Given the description of an element on the screen output the (x, y) to click on. 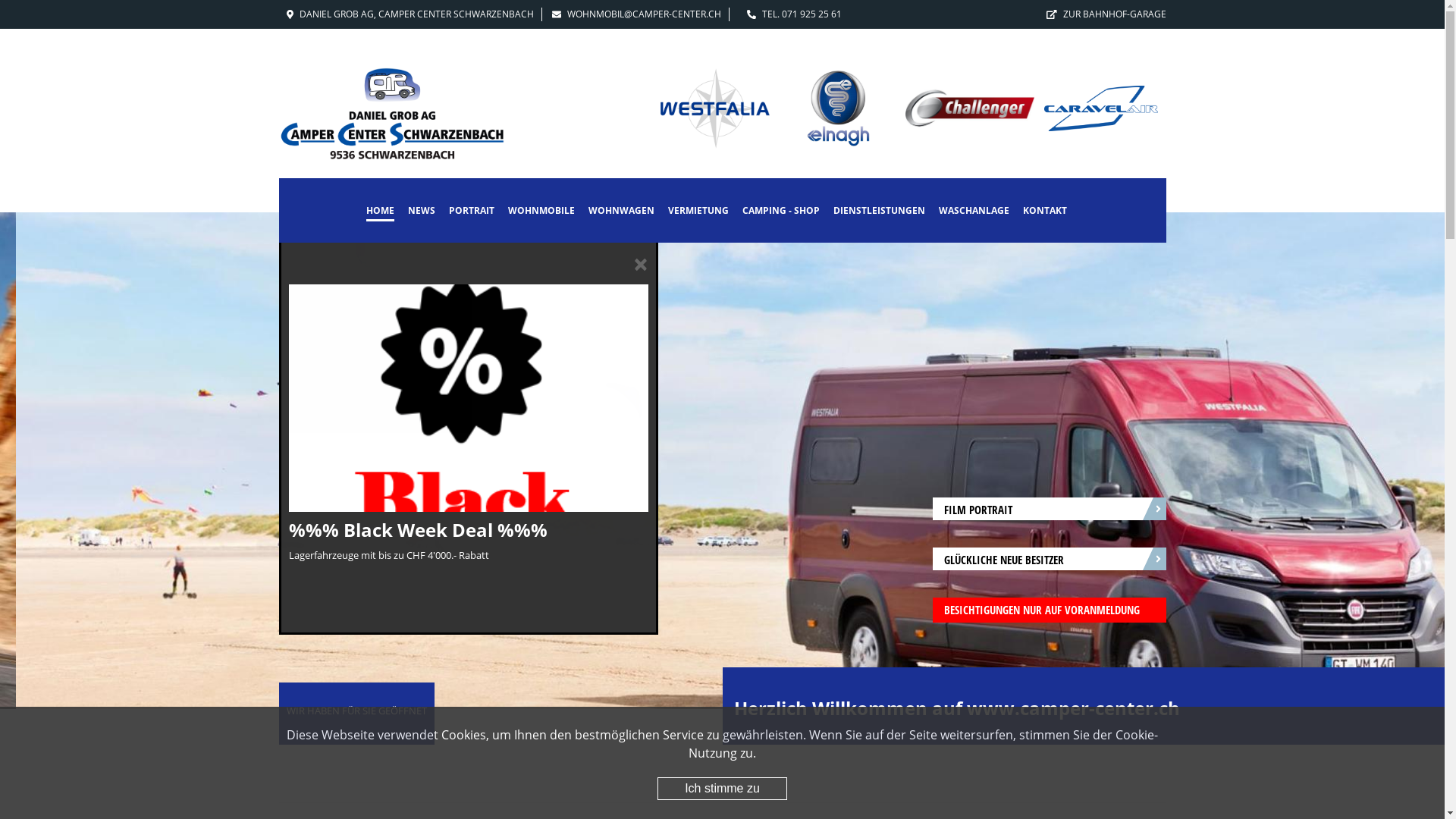
Herzlich Willkommen auf www.camper-center.ch Element type: text (956, 707)
PORTRAIT Element type: text (471, 212)
Ich stimme zu Element type: text (722, 788)
VERMIETUNG Element type: text (698, 212)
HOME Element type: text (380, 212)
TEL. 071 925 25 61 Element type: text (800, 13)
FILM PORTRAIT Element type: text (1049, 508)
DIENSTLEISTUNGEN Element type: text (879, 212)
WOHNMOBIL@CAMPER-CENTER.CH Element type: text (644, 13)
WASCHANLAGE Element type: text (973, 212)
Camper Center Schwarzenbach Element type: hover (393, 114)
WOHNWAGEN Element type: text (621, 212)
NEWS Element type: text (421, 212)
ZUR BAHNHOF-GARAGE Element type: text (1114, 13)
KONTAKT Element type: text (1044, 212)
CAMPING - SHOP Element type: text (780, 212)
WOHNMOBILE Element type: text (541, 212)
